Given the description of an element on the screen output the (x, y) to click on. 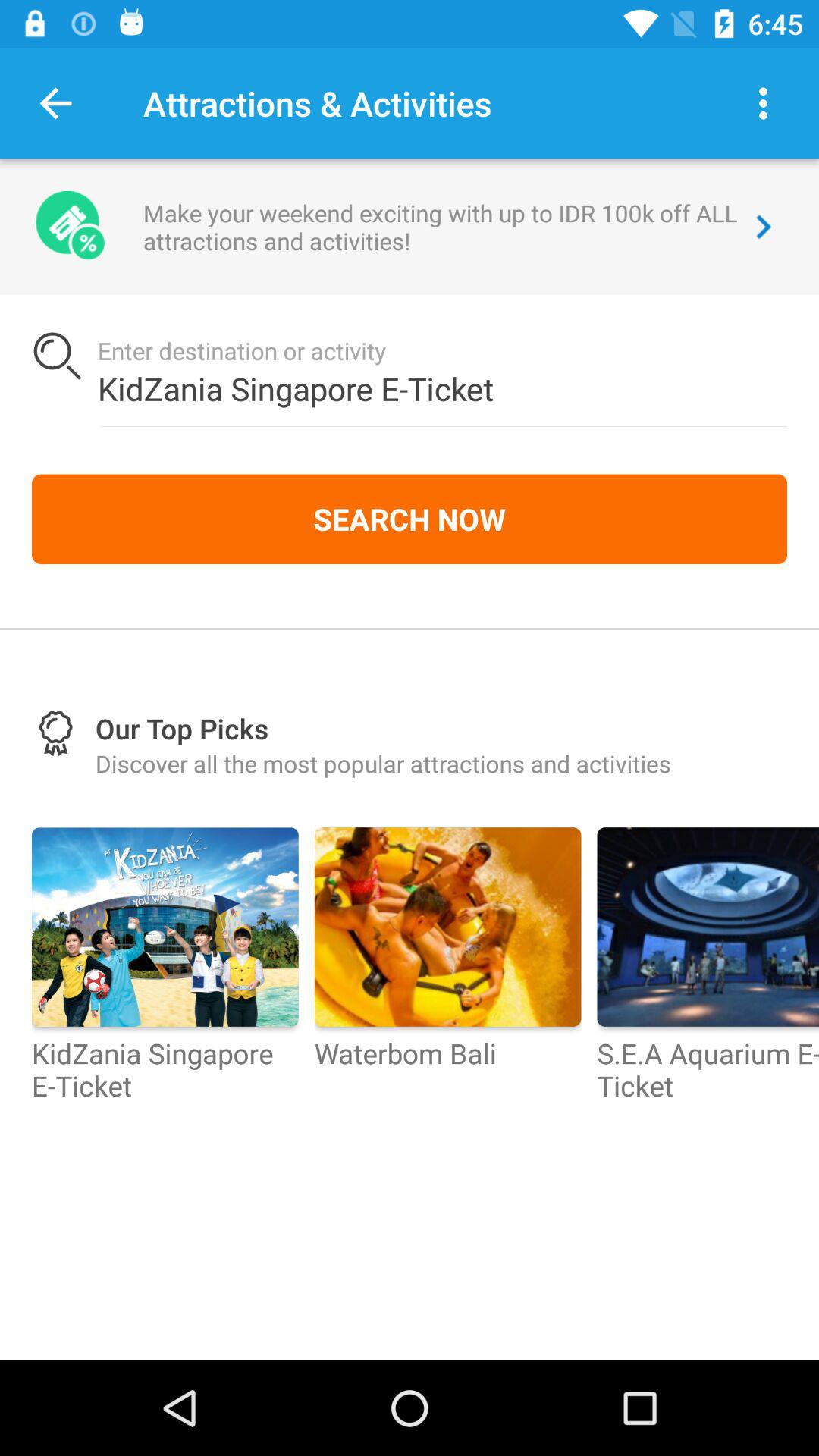
click the item next to the attractions & activities item (55, 103)
